Given the description of an element on the screen output the (x, y) to click on. 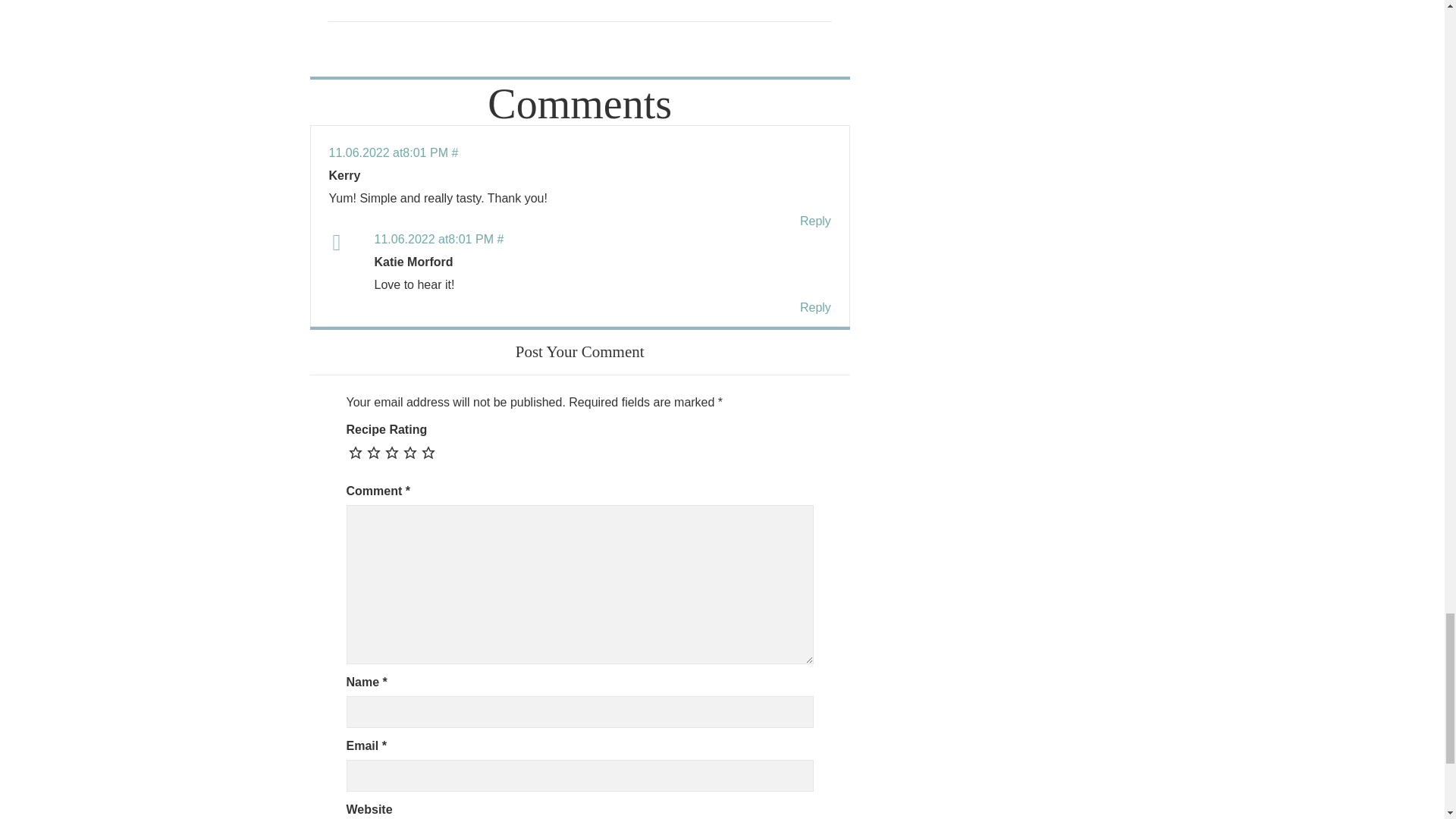
Direct link to this comment (438, 238)
Reply (815, 220)
Reply (815, 307)
Direct link to this comment (393, 152)
